Given the description of an element on the screen output the (x, y) to click on. 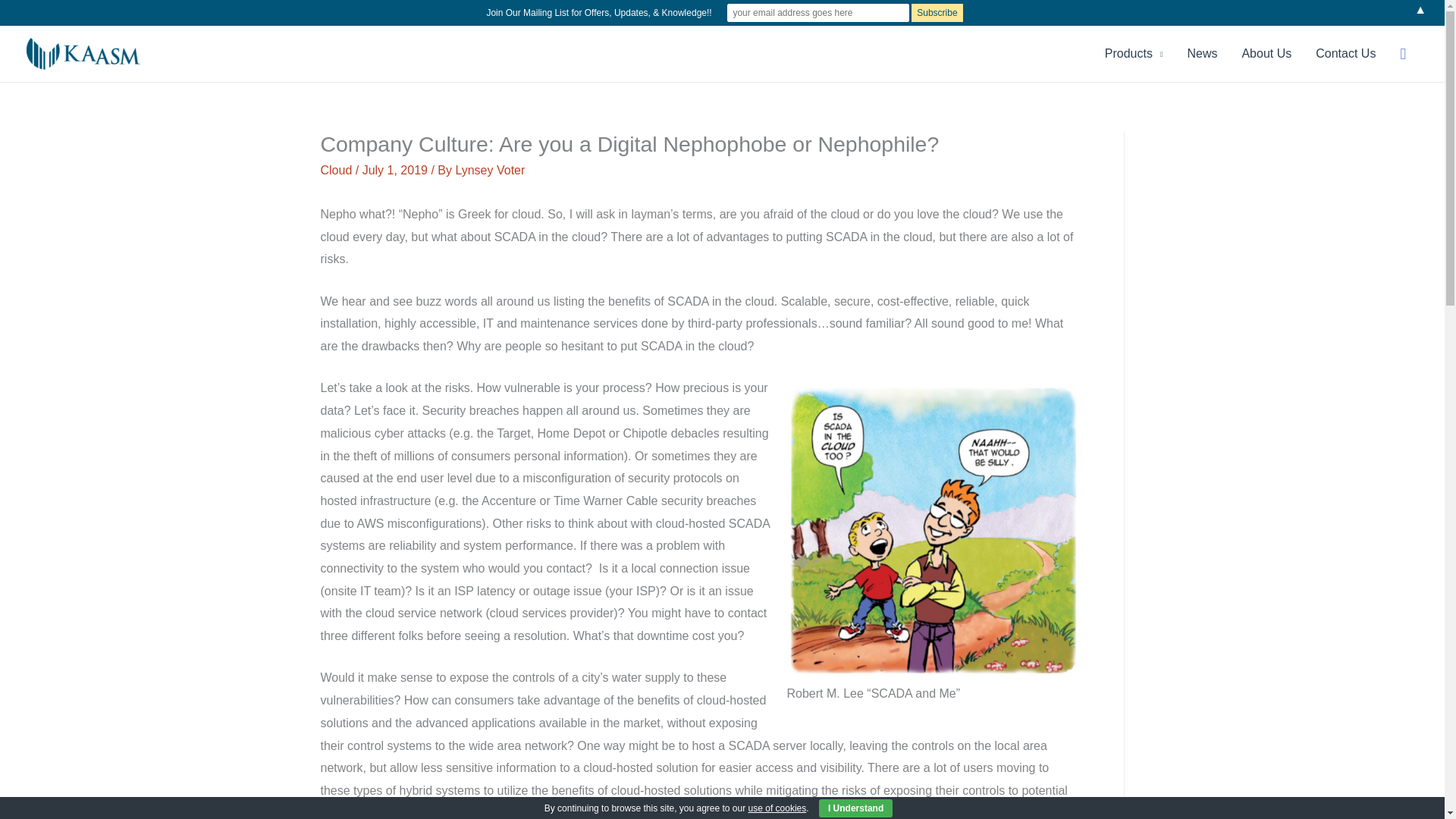
Subscribe (936, 13)
View all posts by Lynsey Voter (489, 169)
News (1201, 53)
Search (18, 17)
About Us (1265, 53)
Contact Us (1345, 53)
Cloud (336, 169)
Products (1133, 53)
